Given the description of an element on the screen output the (x, y) to click on. 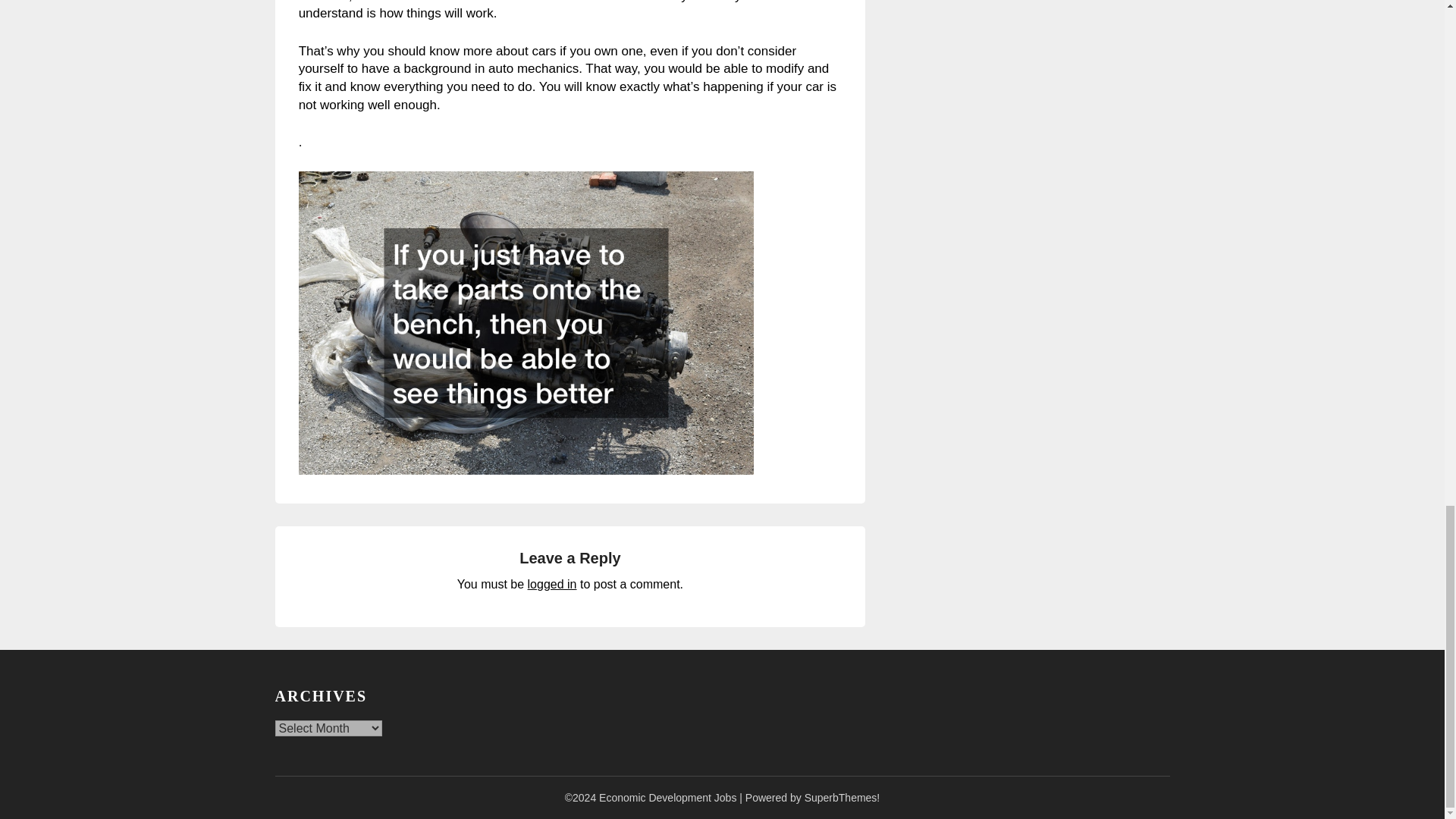
SuperbThemes! (842, 797)
logged in (551, 584)
